Given the description of an element on the screen output the (x, y) to click on. 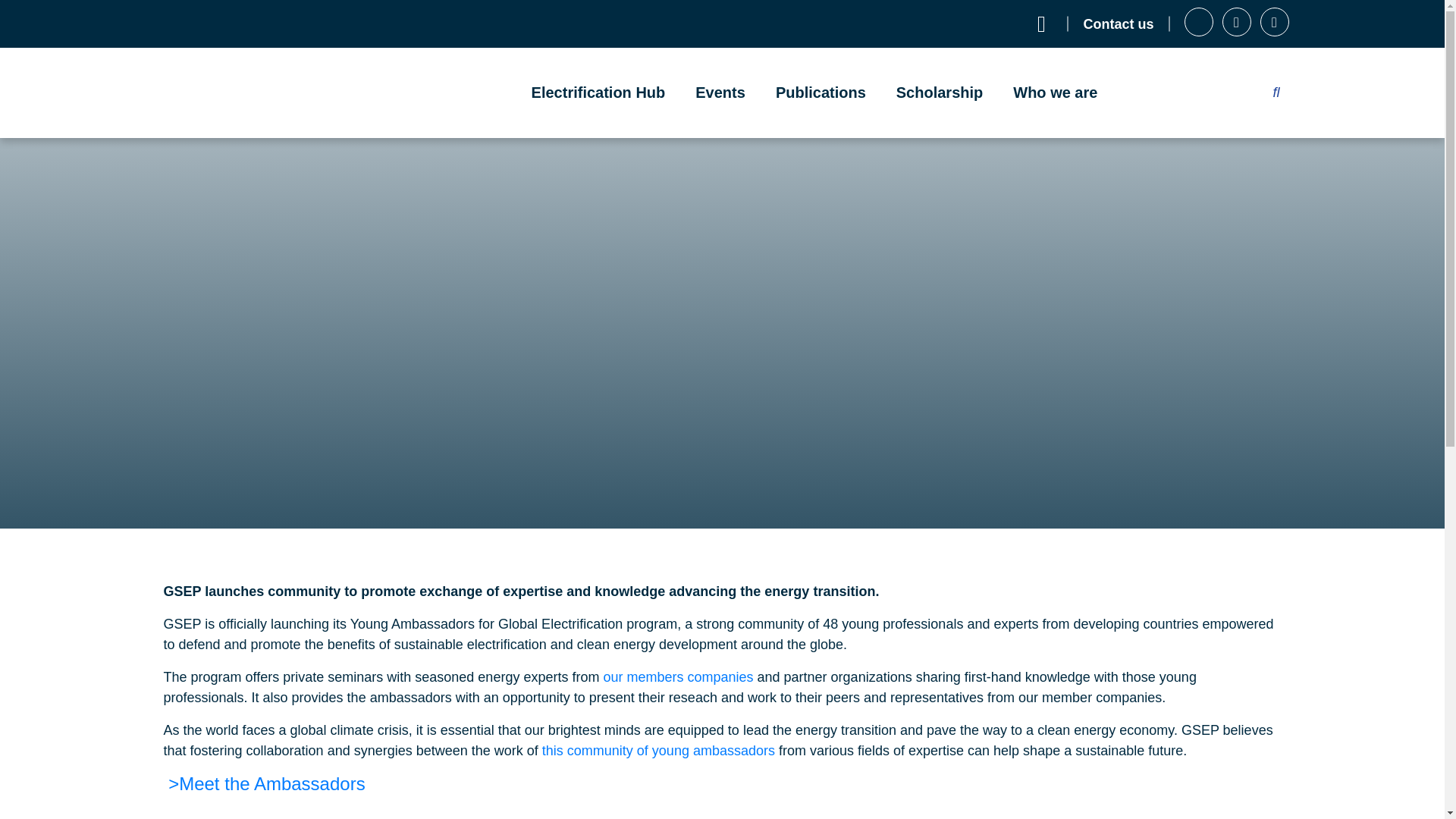
Publications (820, 92)
Contact us (1118, 23)
Electrification Hub (598, 92)
Who we are (1054, 92)
Scholarship (938, 92)
Events (719, 92)
